Given the description of an element on the screen output the (x, y) to click on. 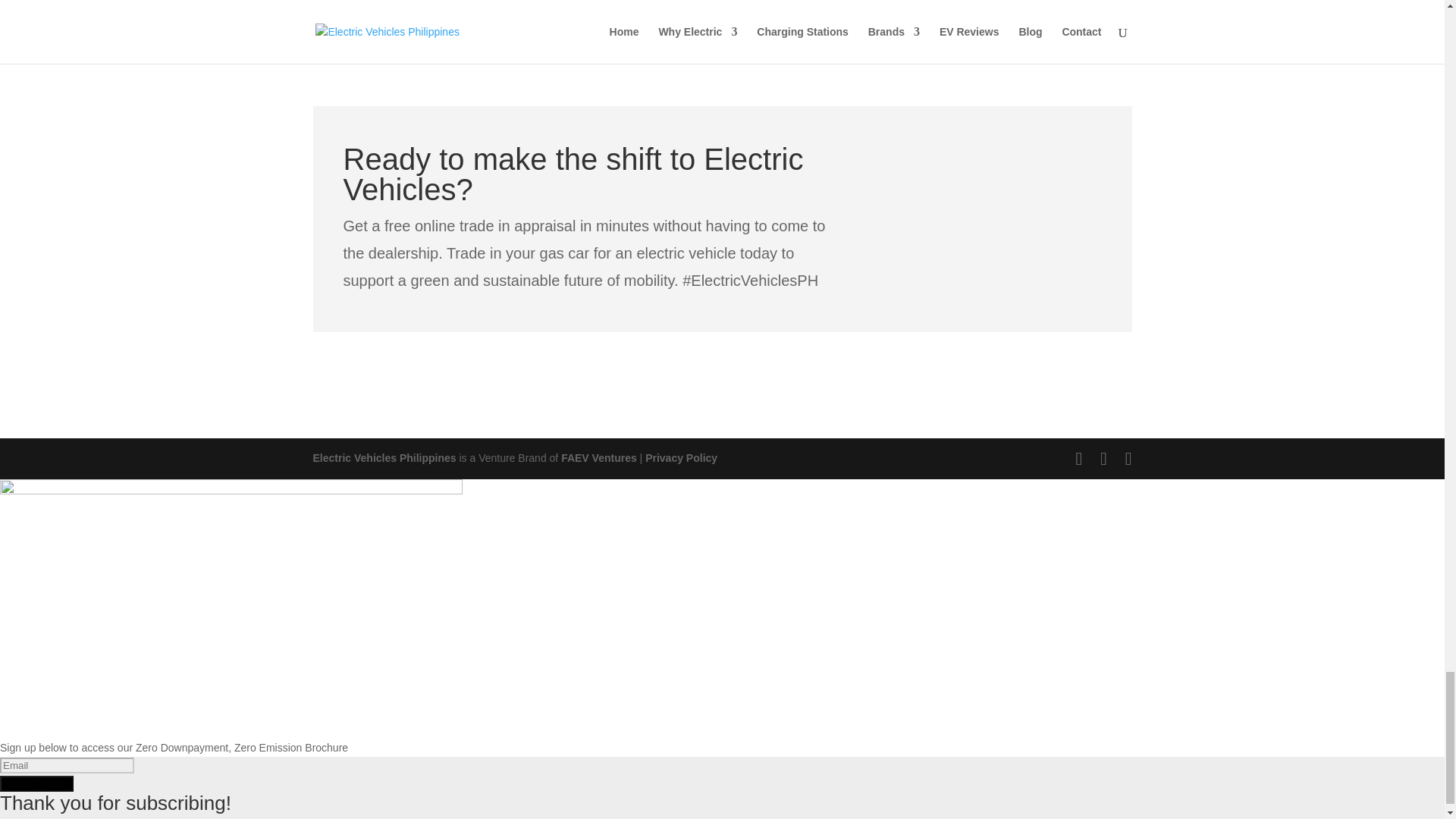
Privacy Policy (681, 458)
FAEV Ventures (598, 458)
Electric Vehicles Philippines (384, 458)
